Given the description of an element on the screen output the (x, y) to click on. 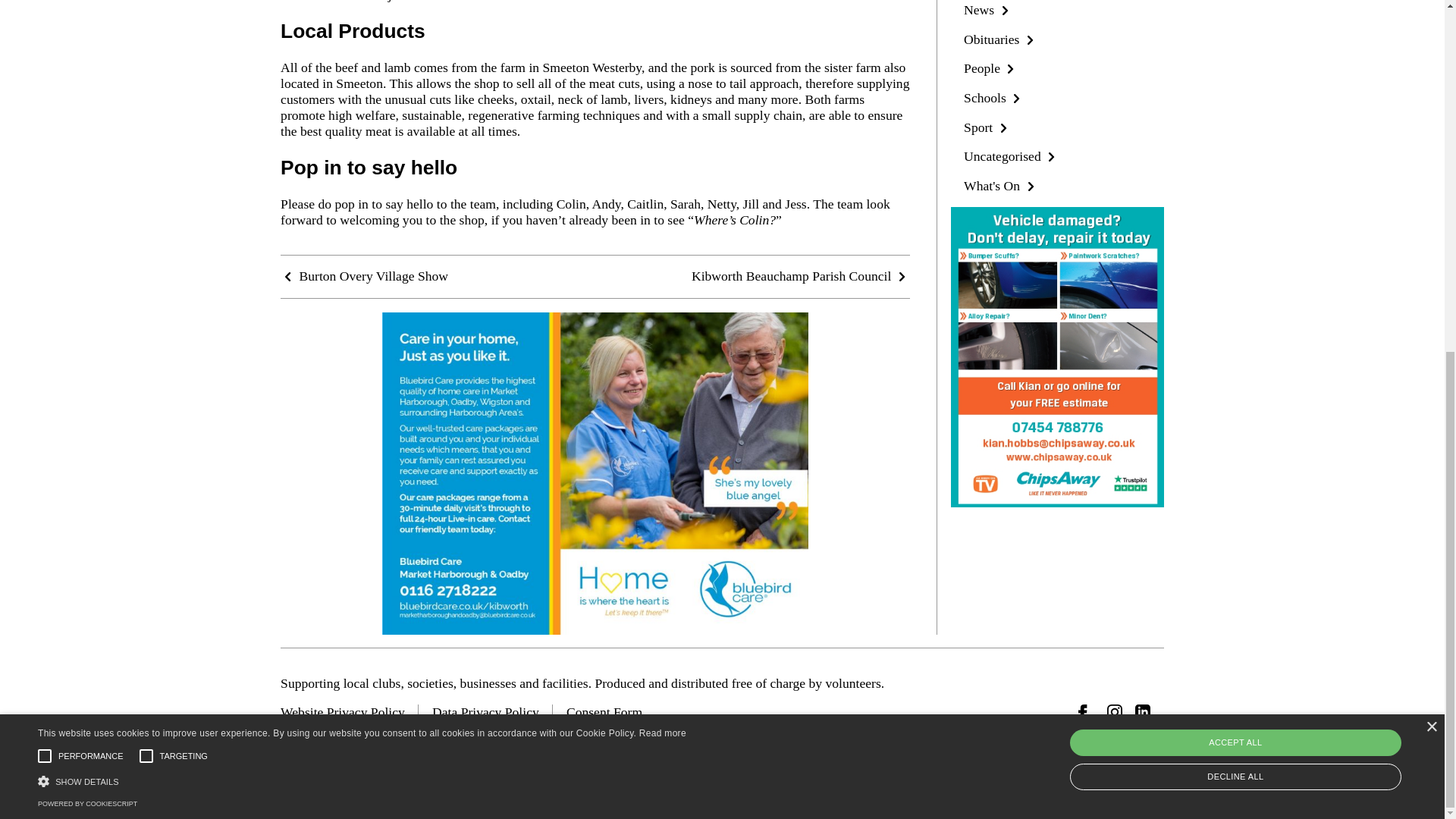
Connect with us on LinkedIn (1142, 711)
Obituaries (1000, 38)
People (990, 68)
Sport (987, 127)
Schools (994, 97)
Follow us on Instagram (1114, 711)
Burton Overy Village Show (364, 276)
Uncategorised (1011, 155)
News (987, 9)
Kibworth Beauchamp Parish Council (800, 276)
Consent Management Platform (86, 192)
What's On (1000, 185)
Like us on Facebook (1085, 711)
